Given the description of an element on the screen output the (x, y) to click on. 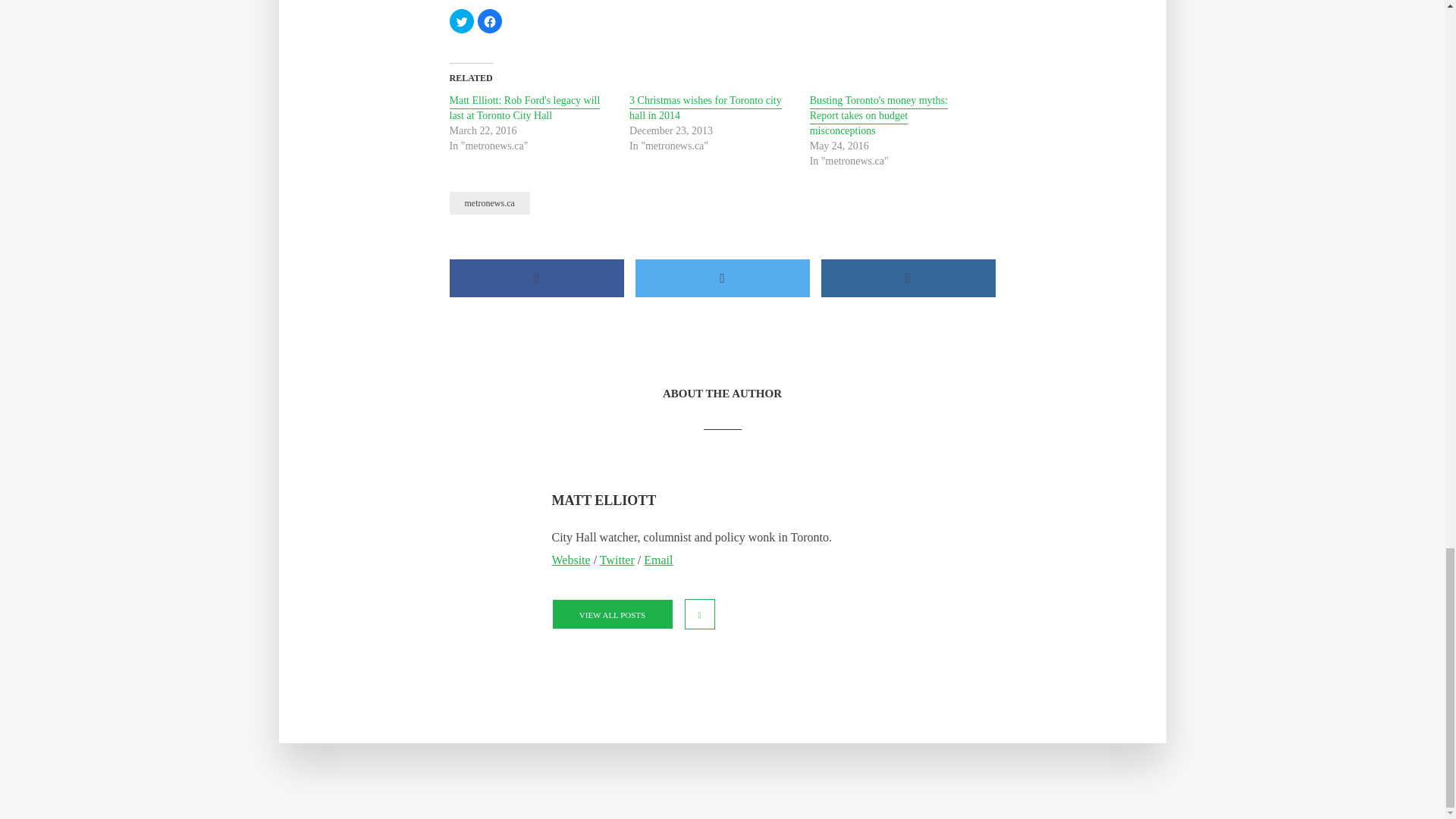
3 Christmas wishes for Toronto city hall in 2014 (704, 109)
VIEW ALL POSTS (611, 613)
Twitter (616, 559)
Website (571, 559)
Click to share on Twitter (460, 21)
Email (657, 559)
metronews.ca (488, 202)
Click to share on Facebook (489, 21)
3 Christmas wishes for Toronto city hall in 2014 (704, 109)
